Given the description of an element on the screen output the (x, y) to click on. 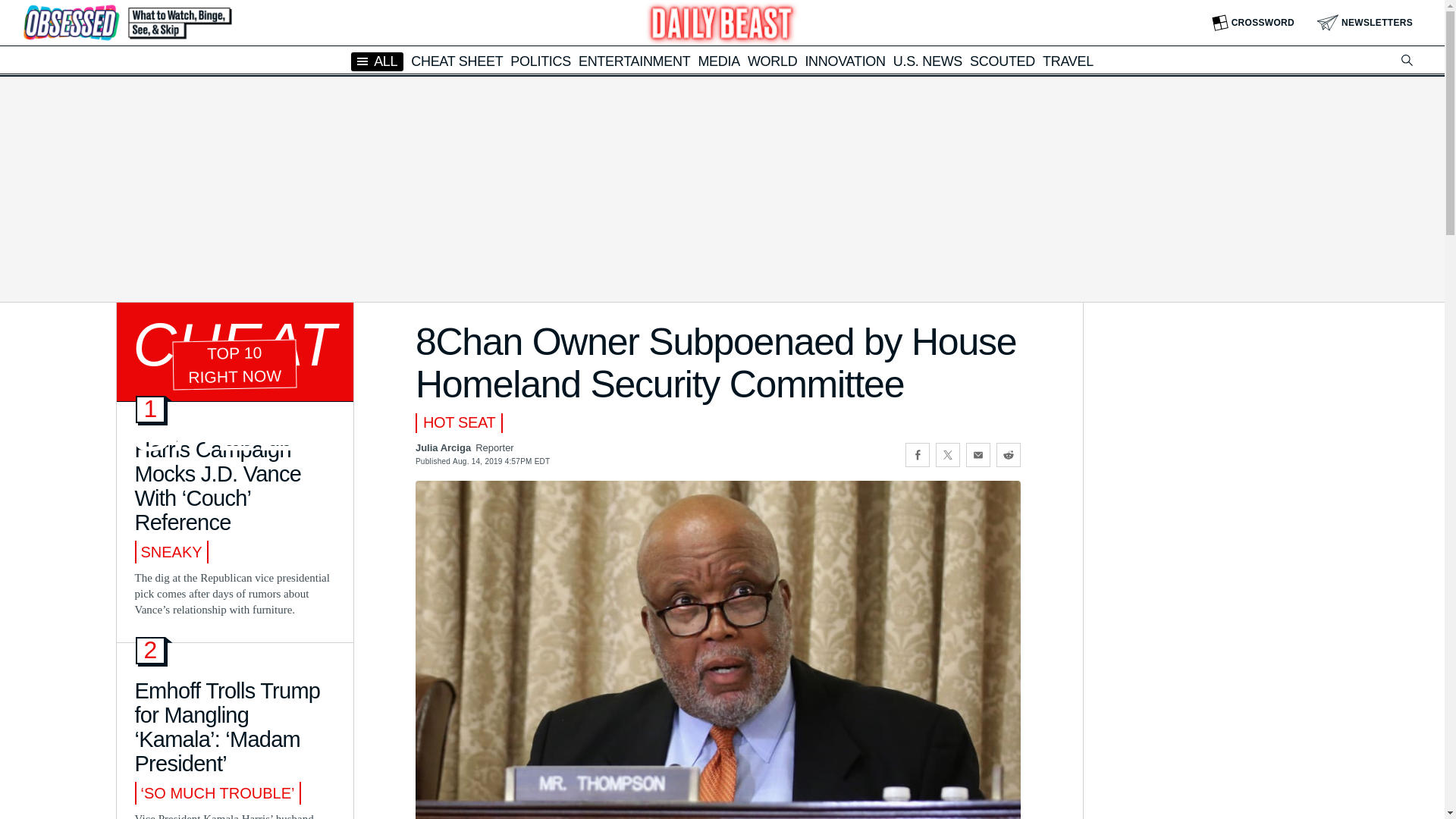
POLITICS (540, 60)
TRAVEL (1067, 60)
NEWSLETTERS (1364, 22)
SCOUTED (1002, 60)
ENTERTAINMENT (634, 60)
MEDIA (718, 60)
U.S. NEWS (927, 60)
CROSSWORD (1252, 22)
INNOVATION (845, 60)
ALL (376, 60)
CHEAT SHEET (456, 60)
WORLD (772, 60)
